Given the description of an element on the screen output the (x, y) to click on. 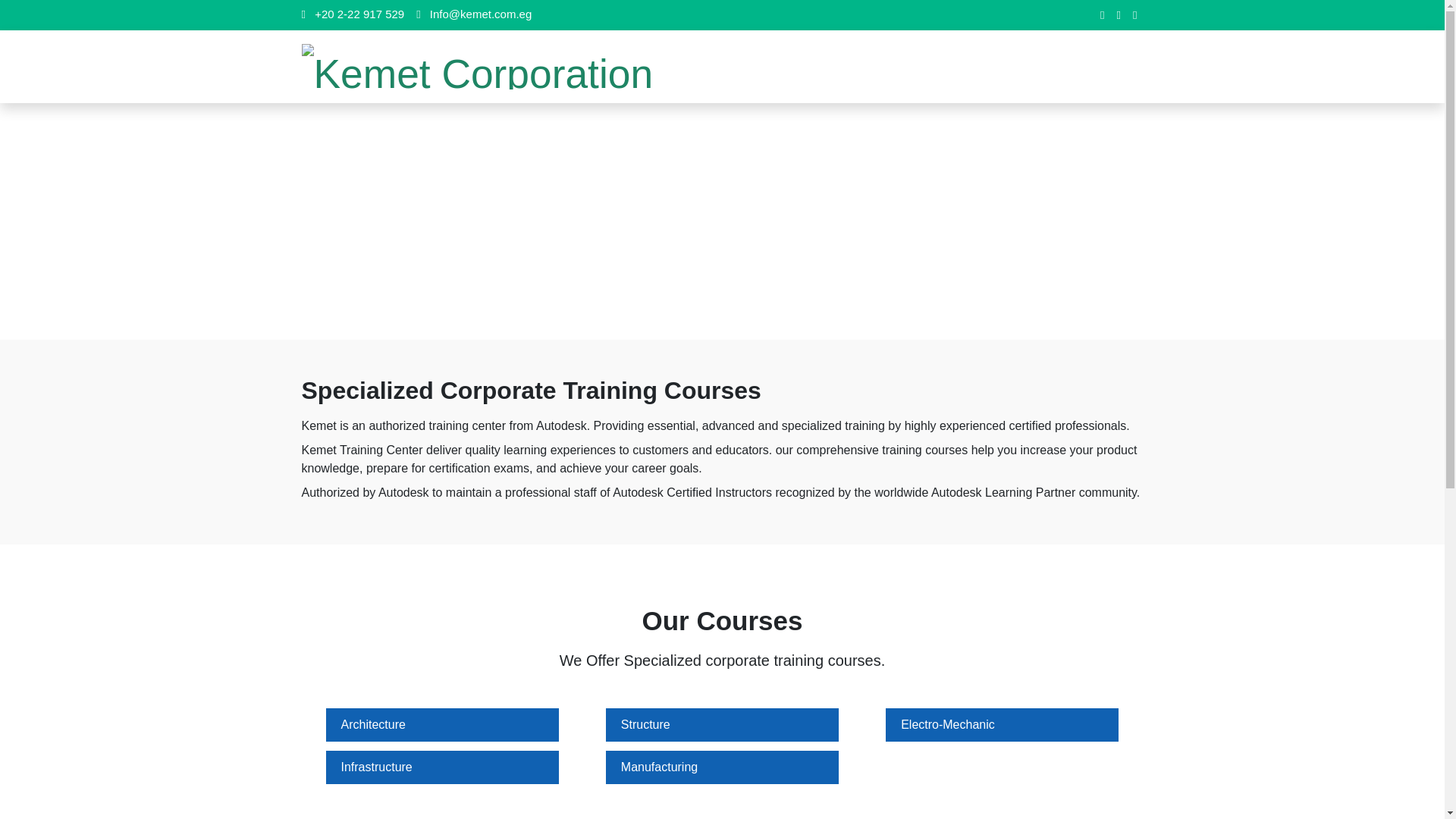
Architecture (373, 724)
Home (695, 220)
Kemet Corporation (477, 66)
